Given the description of an element on the screen output the (x, y) to click on. 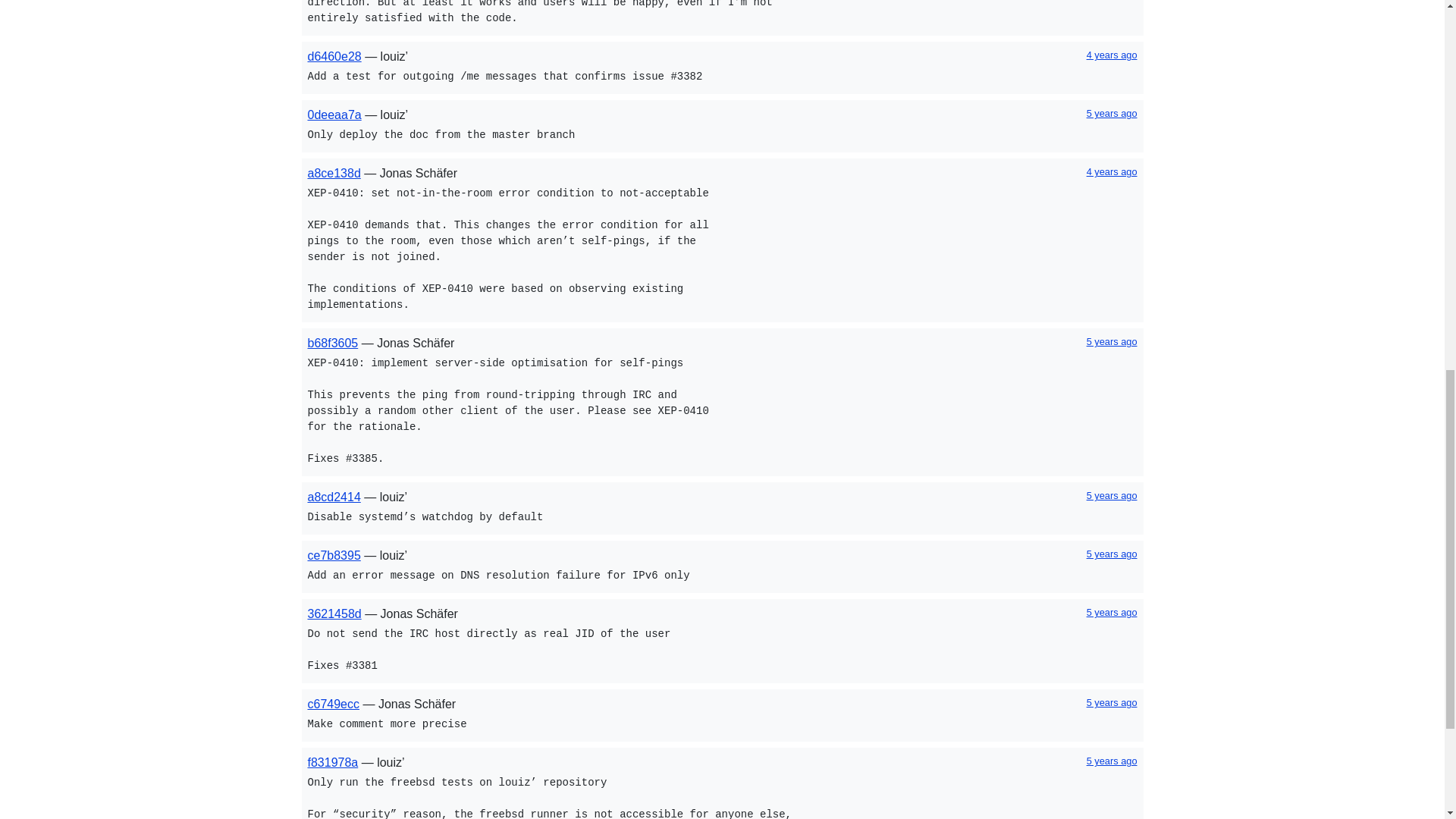
ce7b8395 (334, 554)
4 years ago (1111, 171)
5 years ago (1111, 495)
d6460e28 (334, 56)
5 years ago (1111, 112)
5 years ago (1111, 341)
4 years ago (1111, 54)
a8ce138d (334, 173)
a8cd2414 (334, 496)
0deeaa7a (334, 114)
